Given the description of an element on the screen output the (x, y) to click on. 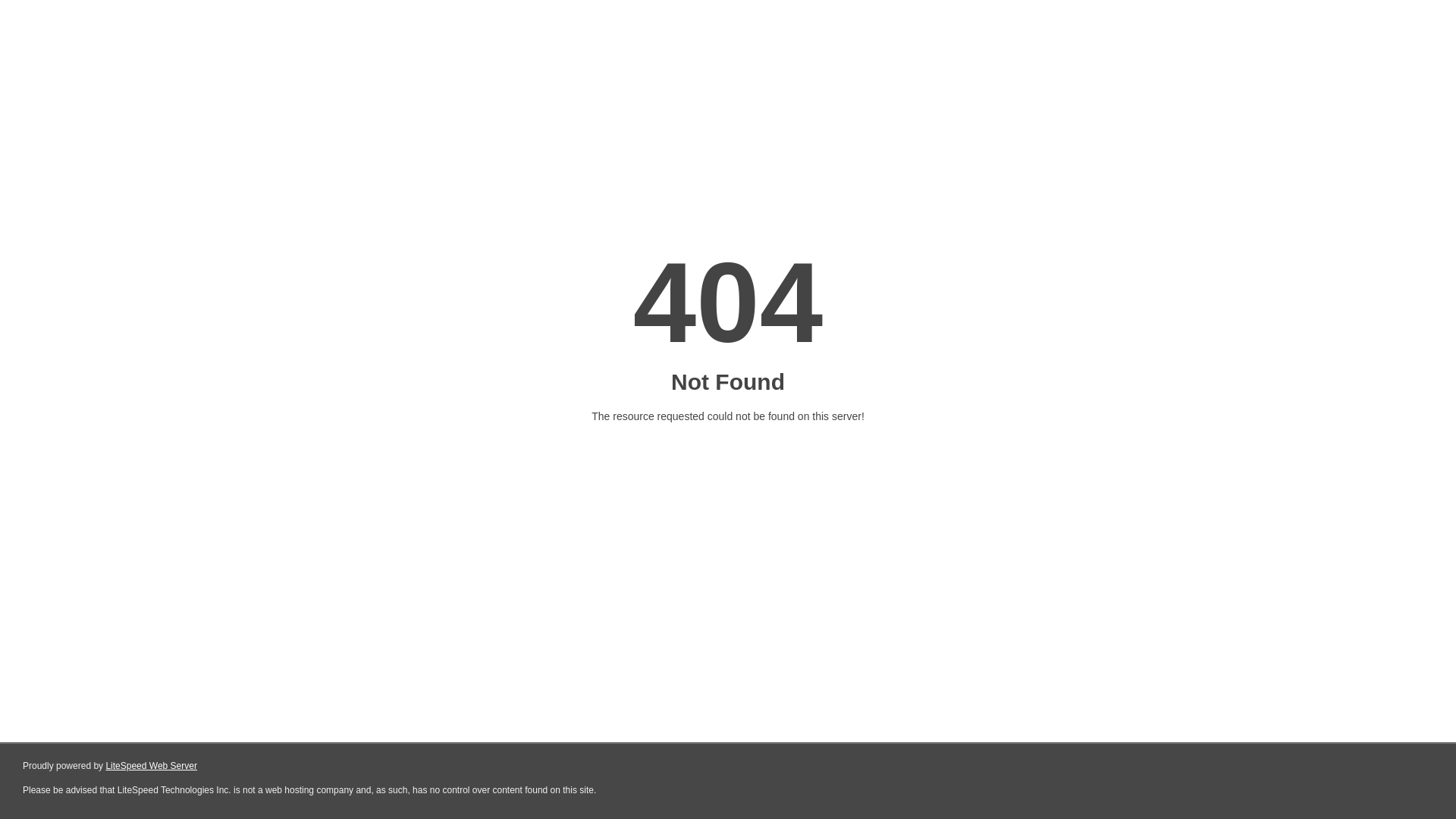
LiteSpeed Web Server Element type: text (151, 765)
